Given the description of an element on the screen output the (x, y) to click on. 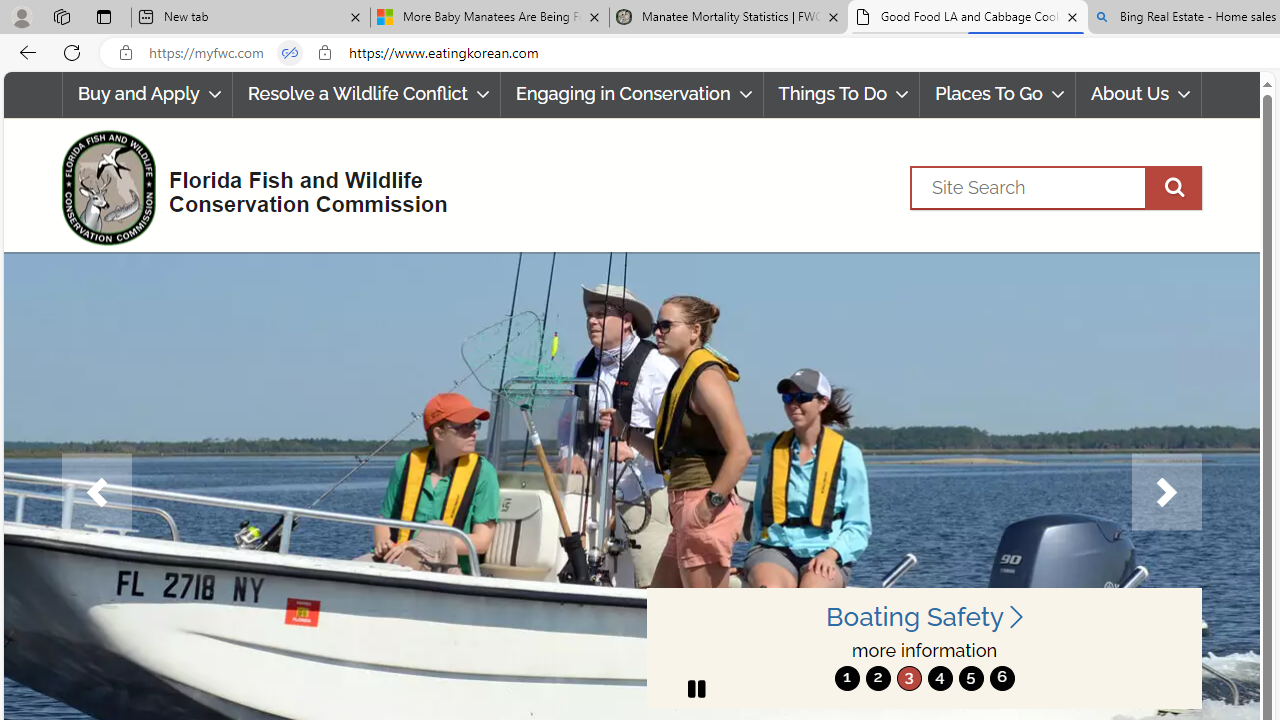
FWC Logo Florida Fish and Wildlife Conservation Commission (246, 185)
6 (1002, 678)
Places To Go (997, 94)
move to slide 6 (1002, 678)
FWC Logo (108, 187)
About Us (1138, 94)
4 (939, 678)
move to slide 4 (939, 678)
